Given the description of an element on the screen output the (x, y) to click on. 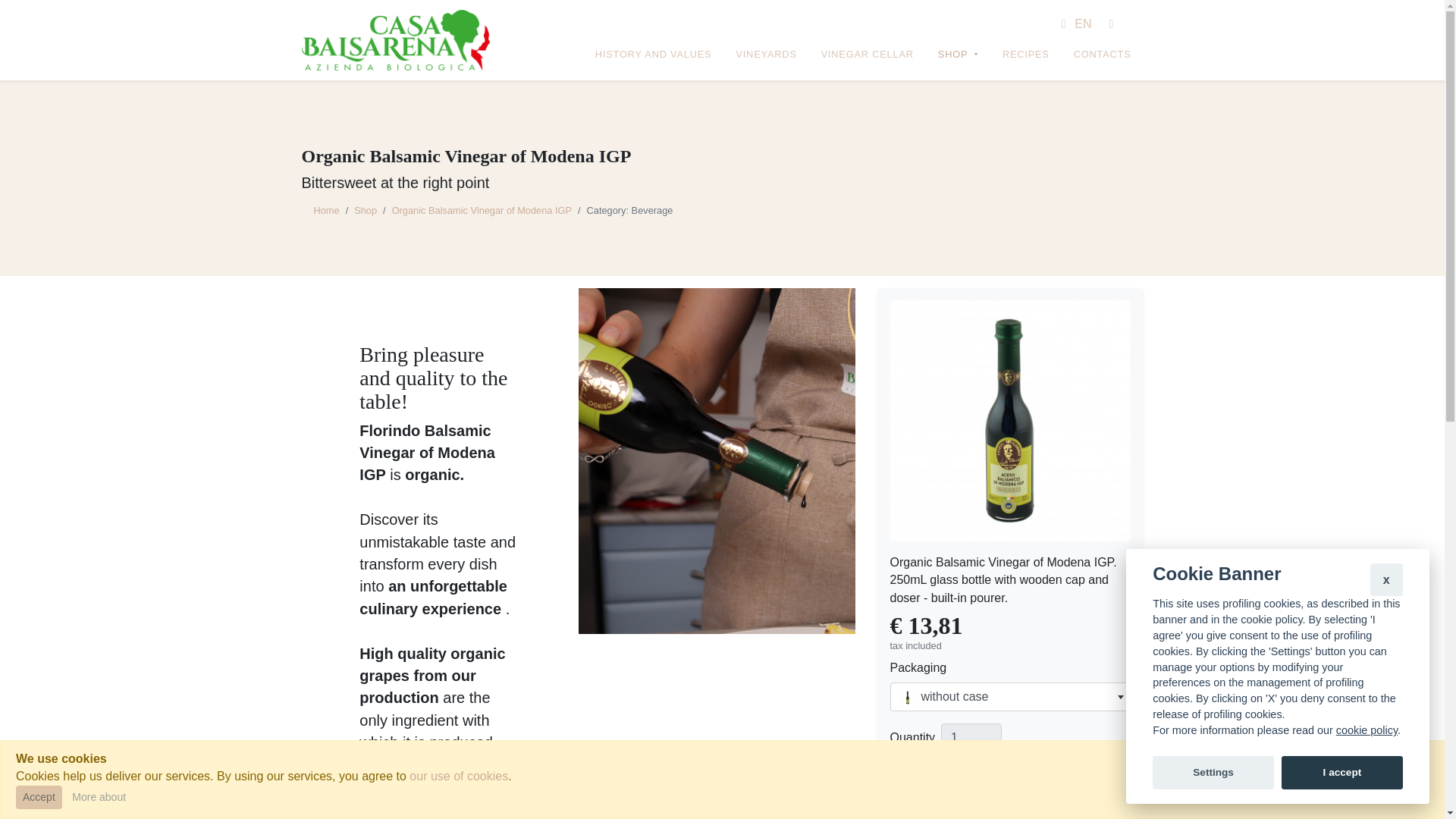
RECIPES (1025, 54)
Shop (365, 210)
Home (326, 210)
Technical data sheet of Moden PGI balsamic vinegar (415, 790)
VINEGAR CELLAR (867, 54)
Organic Balsamic Vinegar of Modena IGP (481, 210)
VINEYARDS (765, 54)
CONTACTS (1102, 54)
Add to cart (1010, 778)
HISTORY AND VALUES (653, 54)
